Given the description of an element on the screen output the (x, y) to click on. 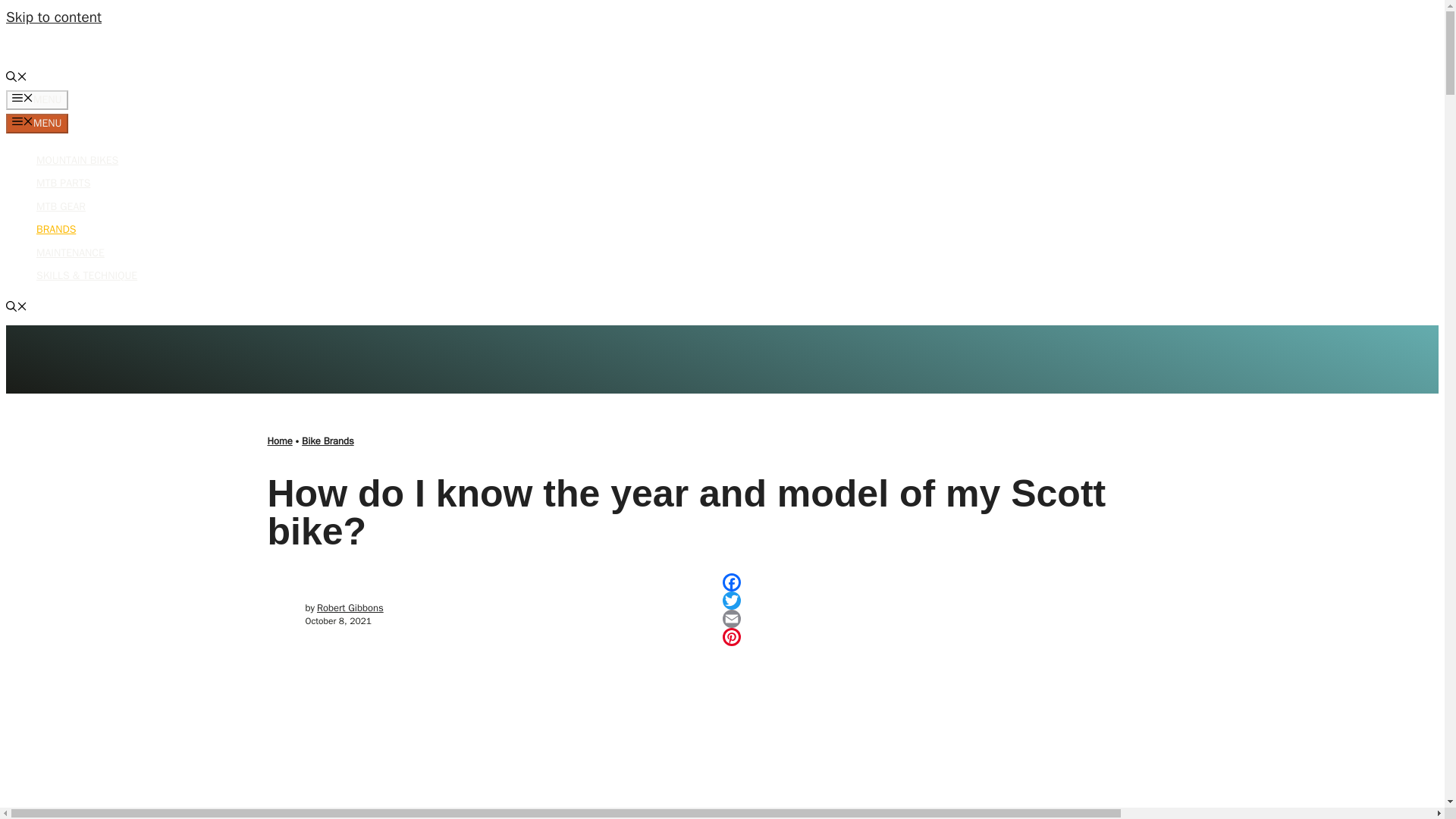
MTB GEAR (60, 205)
MTB PARTS (63, 182)
Bike Brands (327, 440)
Twitter (949, 600)
Email (949, 618)
Facebook (949, 582)
MAINTENANCE (70, 252)
Facebook (949, 582)
BRANDS (55, 228)
Pinterest (949, 637)
Home (279, 440)
Skip to content (53, 17)
MENU (36, 123)
Robert Gibbons (350, 607)
Skip to content (53, 17)
